Given the description of an element on the screen output the (x, y) to click on. 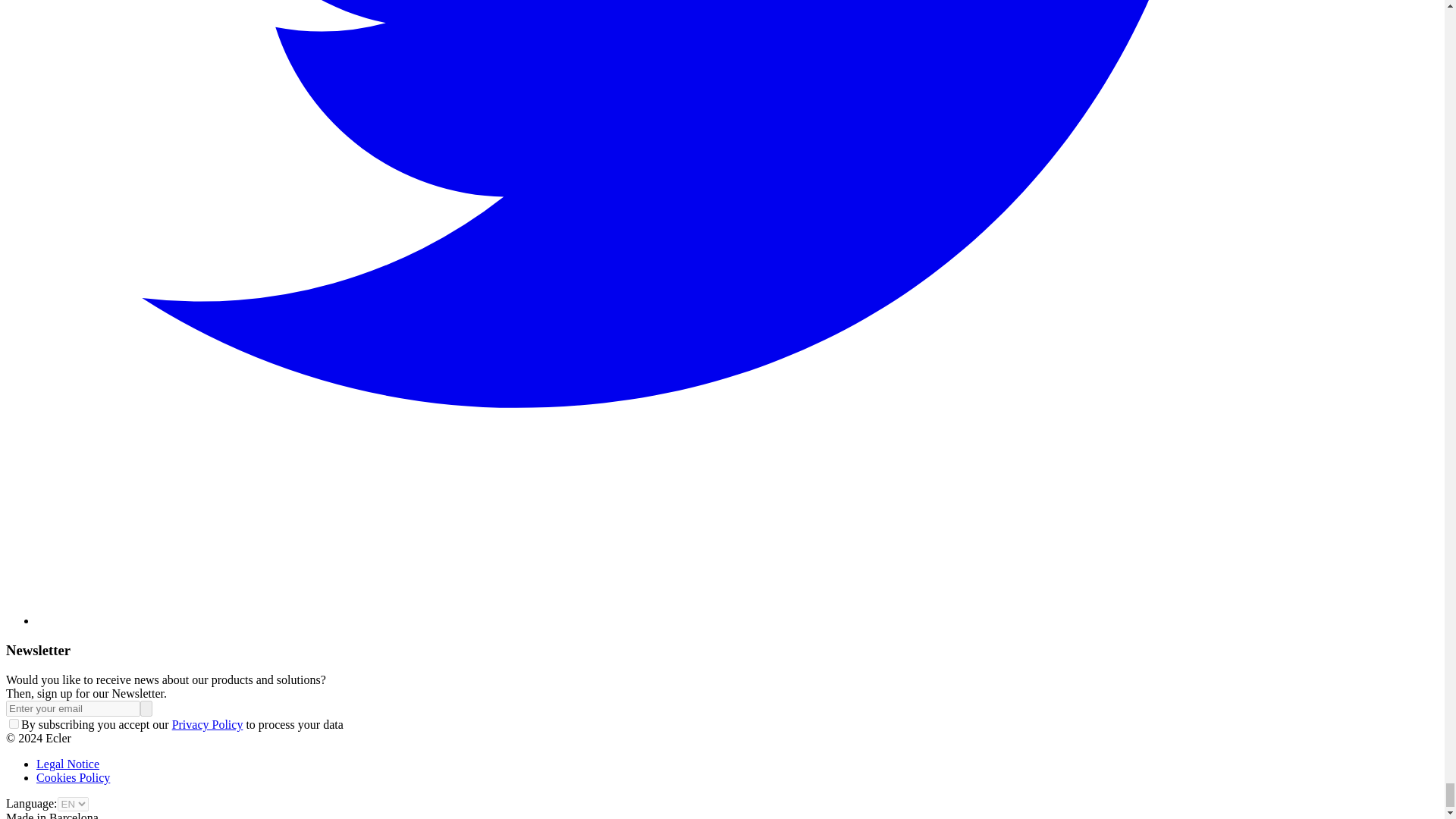
Privacy Policy (207, 724)
Cookies Policy (73, 777)
Legal Notice (67, 763)
on (13, 723)
